Given the description of an element on the screen output the (x, y) to click on. 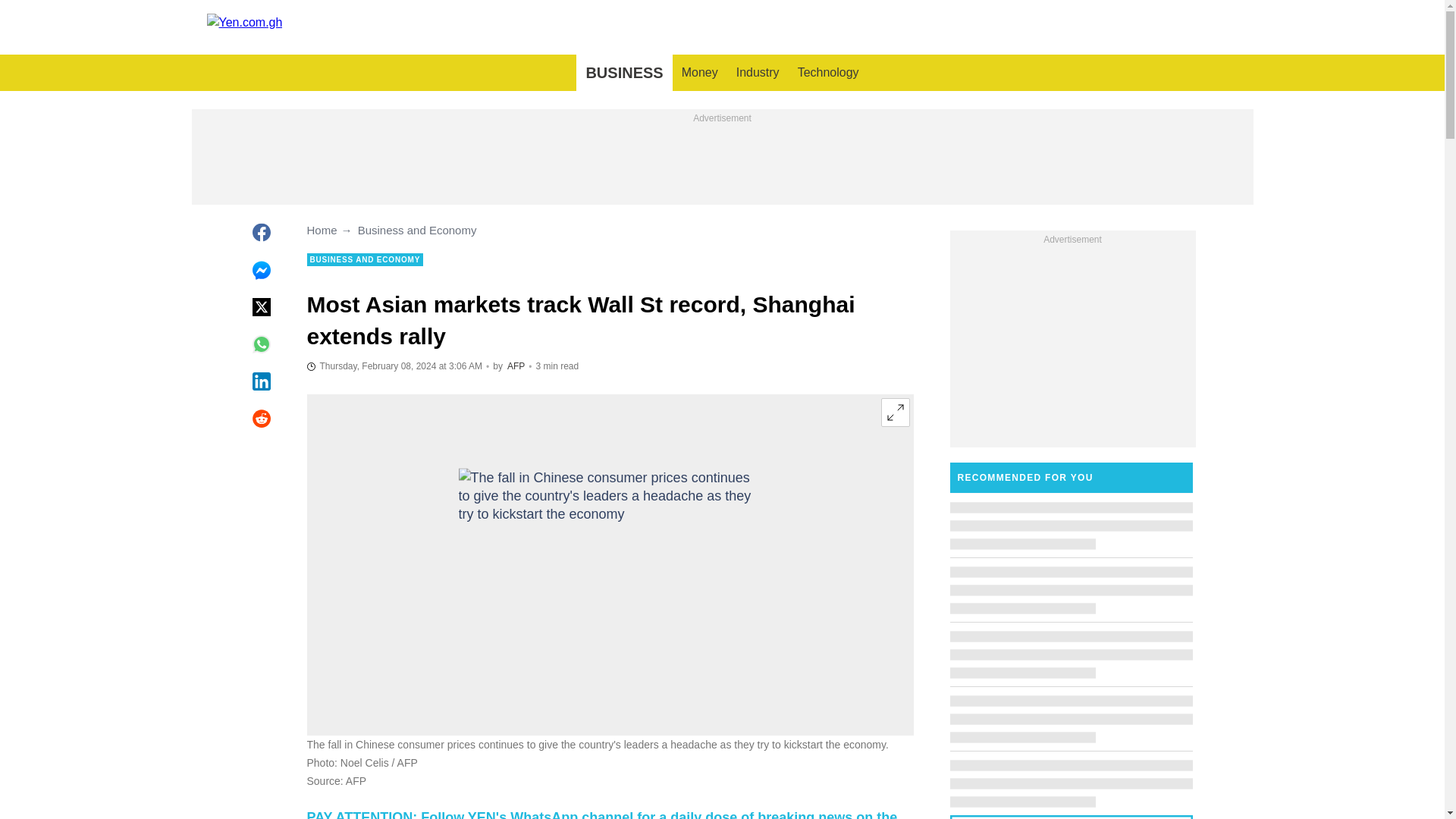
Technology (828, 72)
Author page (515, 366)
Money (699, 72)
Expand image (895, 412)
BUSINESS (623, 72)
Industry (757, 72)
2024-02-08T03:06:05Z (393, 366)
WhatsApp Channel (600, 814)
